Given the description of an element on the screen output the (x, y) to click on. 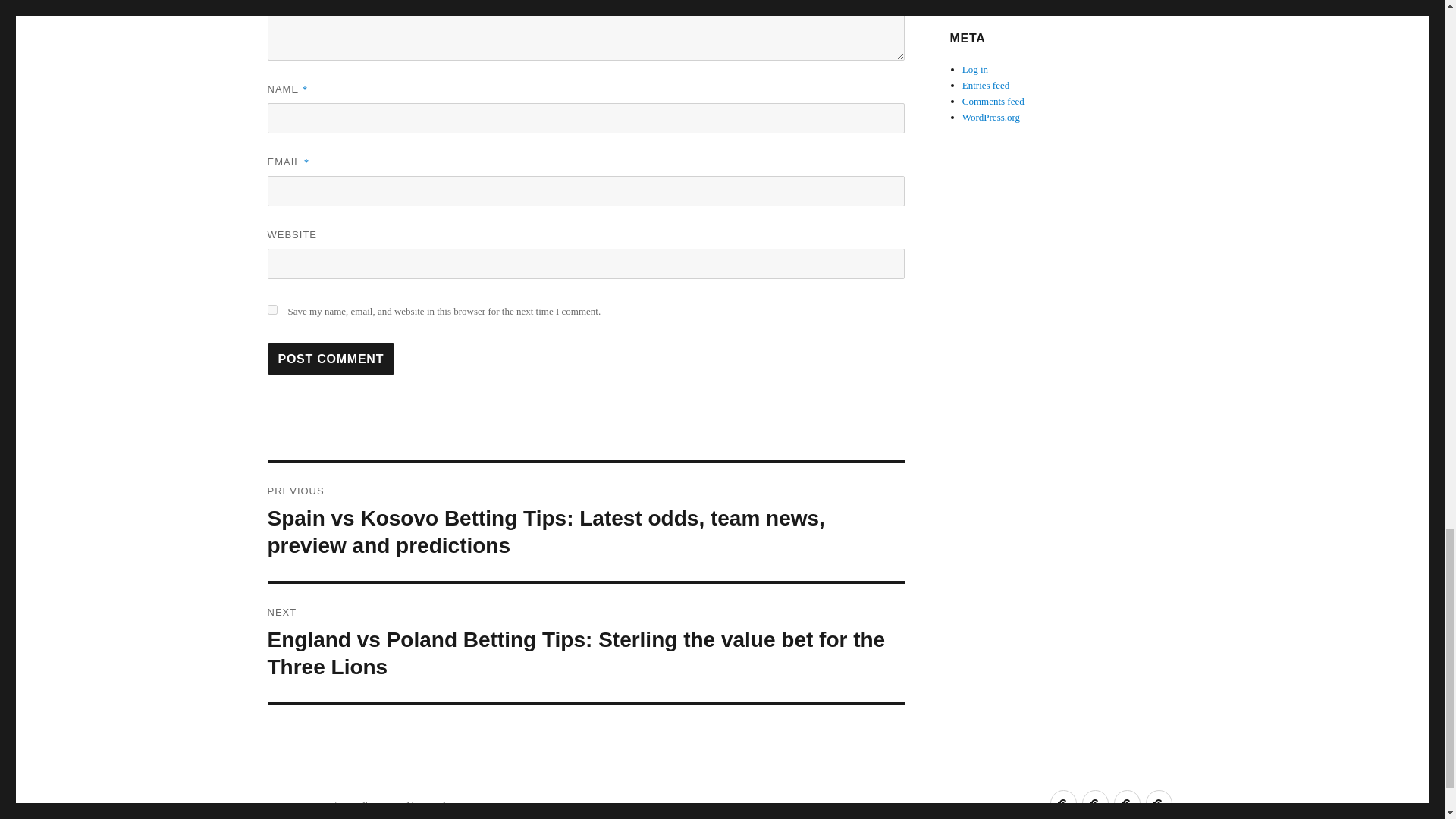
Post Comment (330, 358)
yes (271, 309)
Post Comment (330, 358)
